Given the description of an element on the screen output the (x, y) to click on. 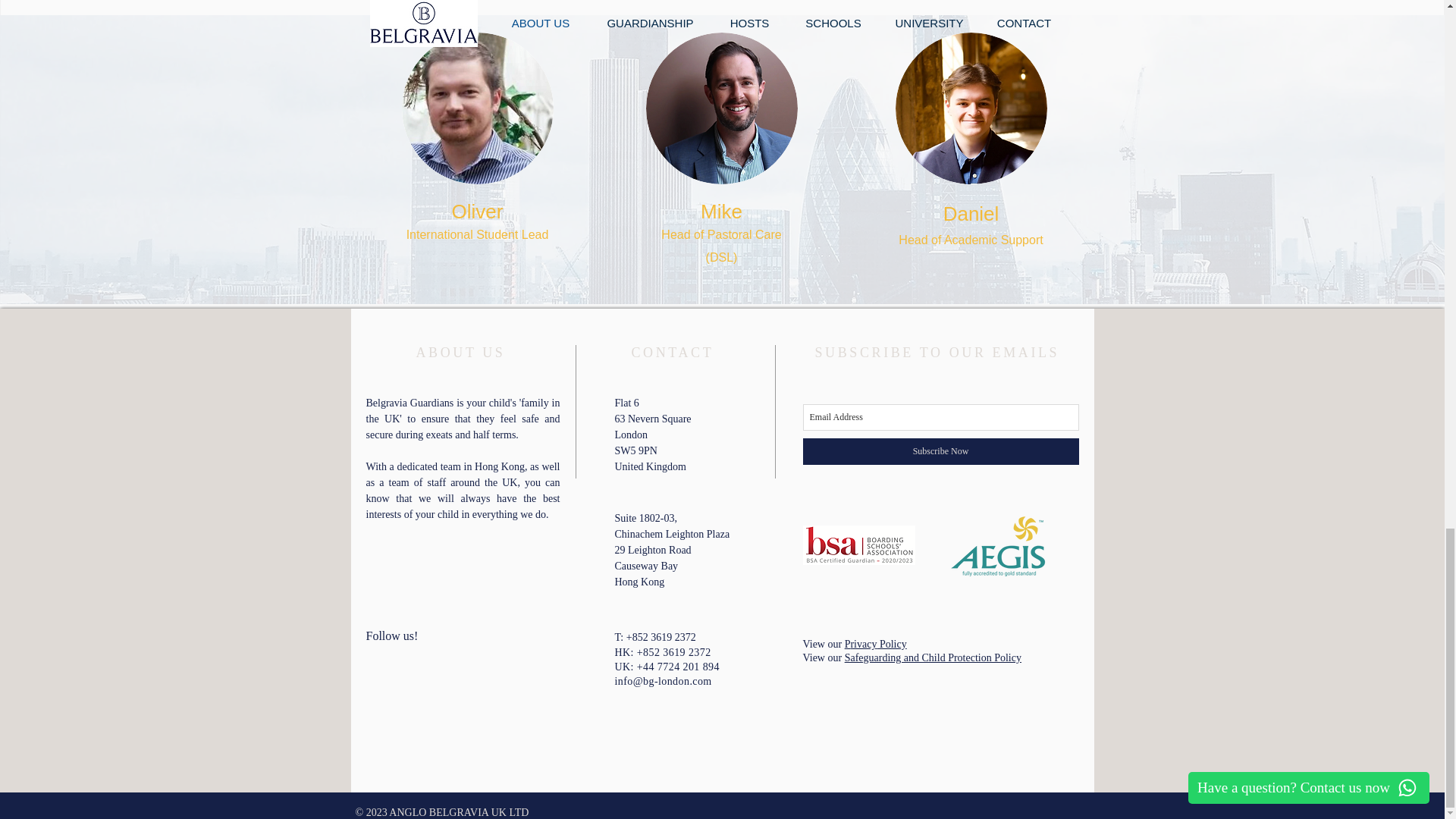
GettyImages-535587703.jpg (477, 108)
GettyImages-535587703.jpg (970, 108)
Safeguarding and Child Protection Policy (933, 657)
Subscribe Now (940, 451)
GettyImages-535587703.jpg (721, 108)
Privacy Policy (875, 644)
